Given the description of an element on the screen output the (x, y) to click on. 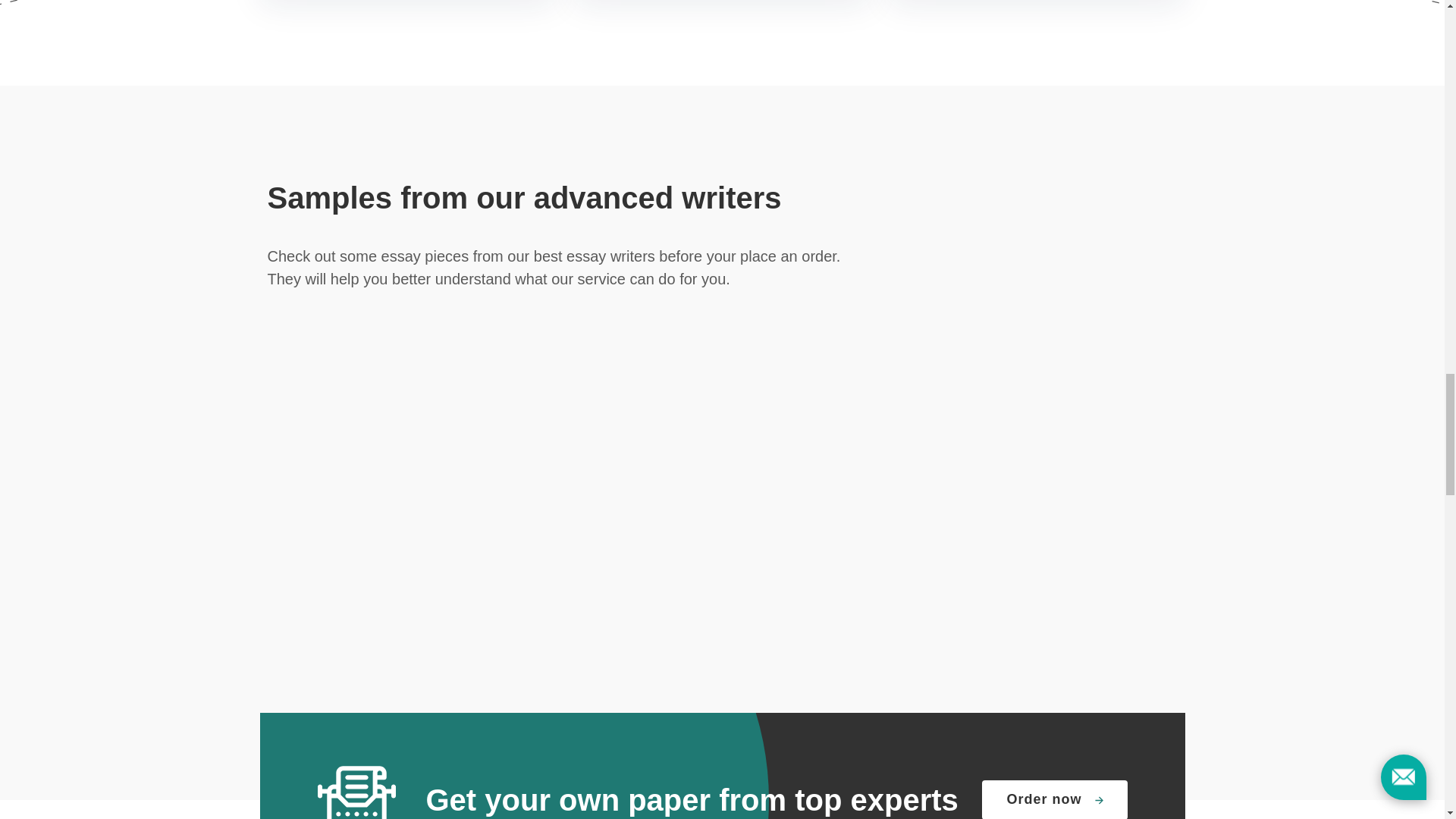
Order now (1053, 799)
